Given the description of an element on the screen output the (x, y) to click on. 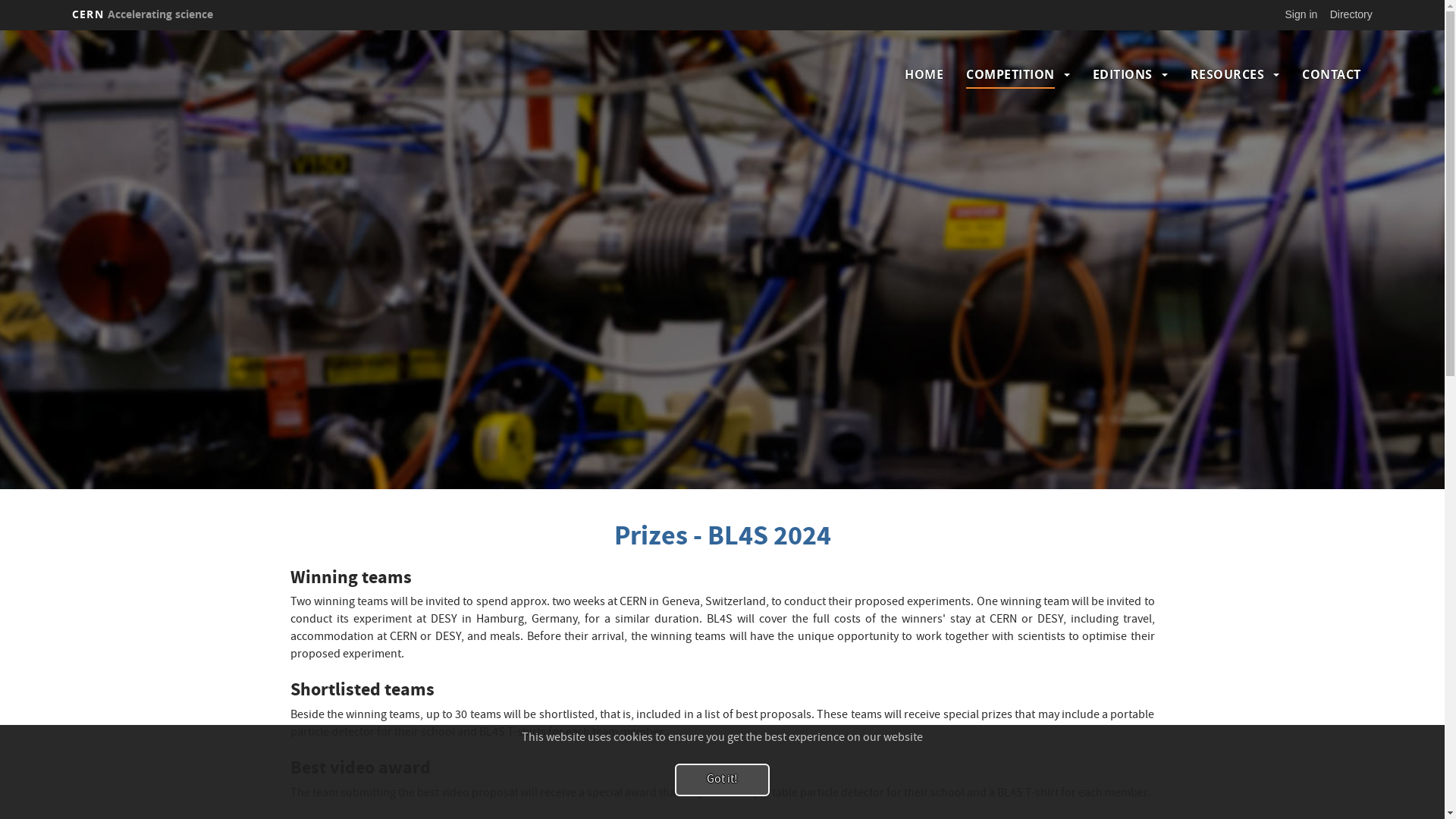
Directory Element type: text (1351, 14)
CONTACT Element type: text (1331, 74)
Skip to main content Element type: text (0, 30)
Sign in Element type: text (1301, 14)
RESOURCES Element type: text (1227, 74)
COMPETITION Element type: text (1010, 74)
HOME Element type: text (923, 74)
EDITIONS Element type: text (1122, 74)
Got it! Element type: text (721, 779)
CERN Accelerating science Element type: text (142, 14)
